Given the description of an element on the screen output the (x, y) to click on. 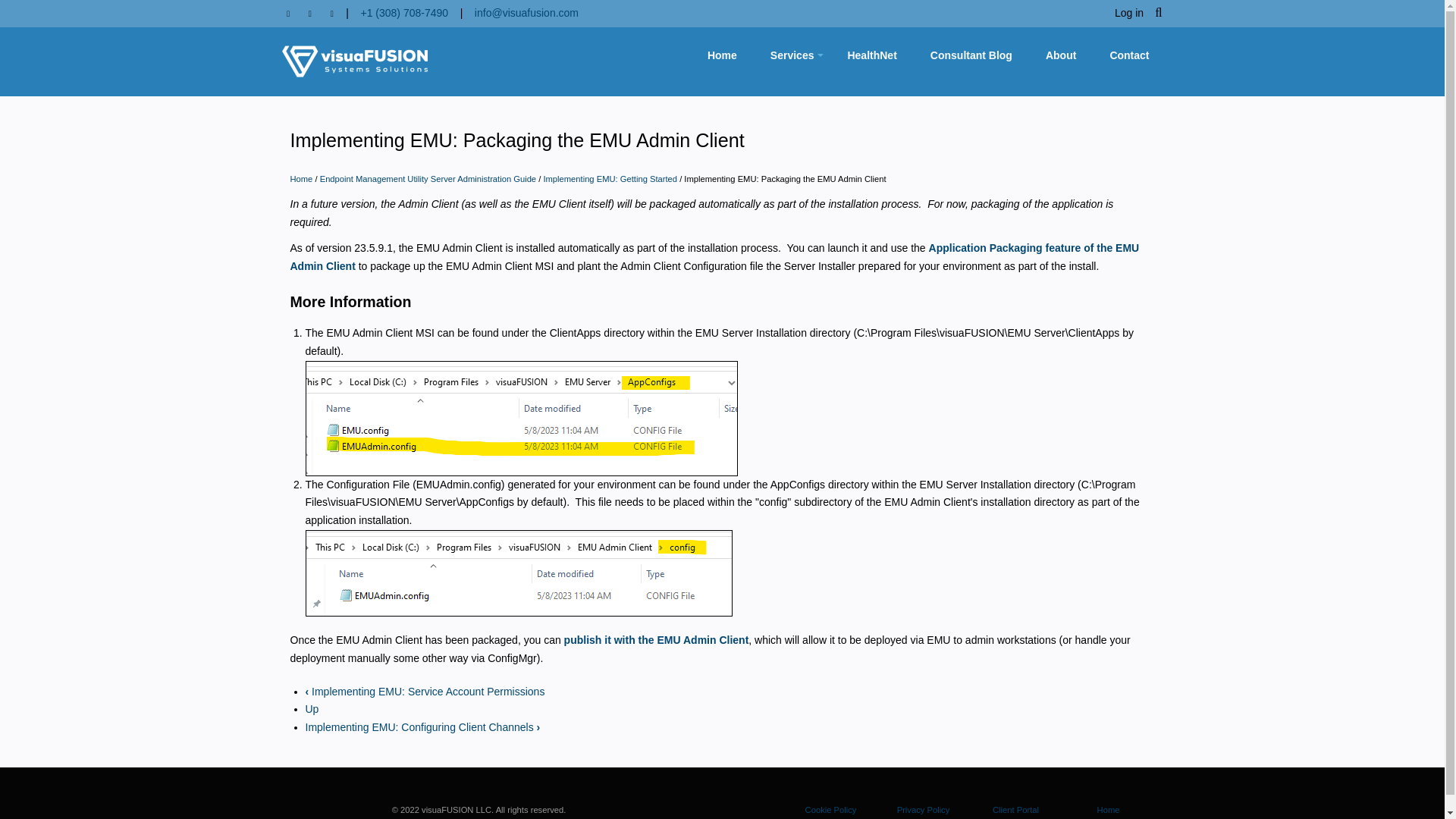
Home (722, 54)
Home (354, 61)
Log in (1128, 13)
HealthNet (871, 54)
Consultant Blog (971, 54)
visuaFUSION HealthNet (871, 54)
About (1060, 54)
